Given the description of an element on the screen output the (x, y) to click on. 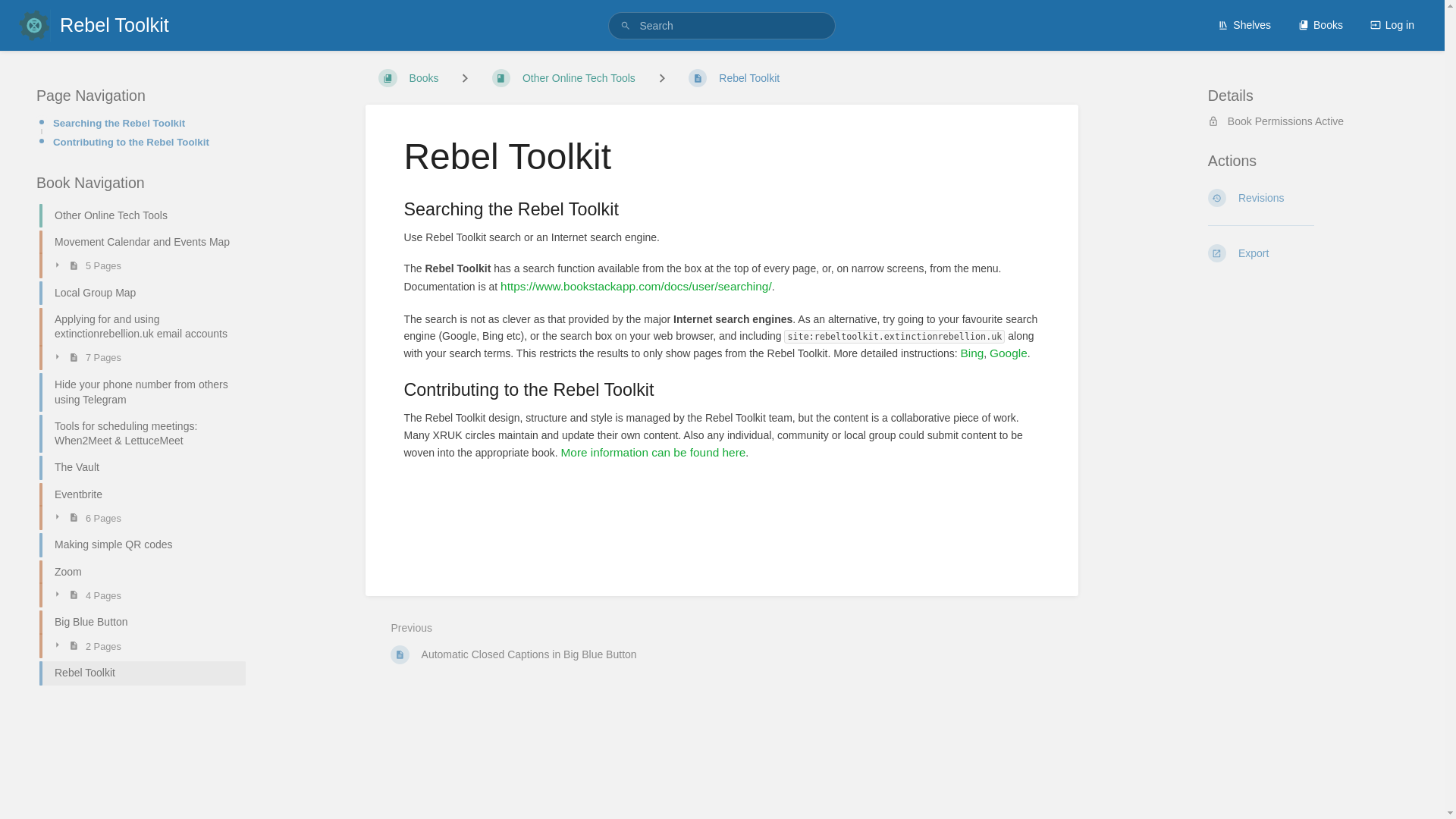
Other Online Tech Tools (136, 215)
Rebel Toolkit (92, 24)
Movement Calendar and Events Map (136, 242)
Books (1320, 24)
5 Pages (144, 265)
Log in (1392, 24)
Applying for and using extinctionrebellion.uk email accounts (136, 327)
Local Group Map (136, 293)
Contributing to the Rebel Toolkit (143, 141)
Eventbrite (136, 494)
